Given the description of an element on the screen output the (x, y) to click on. 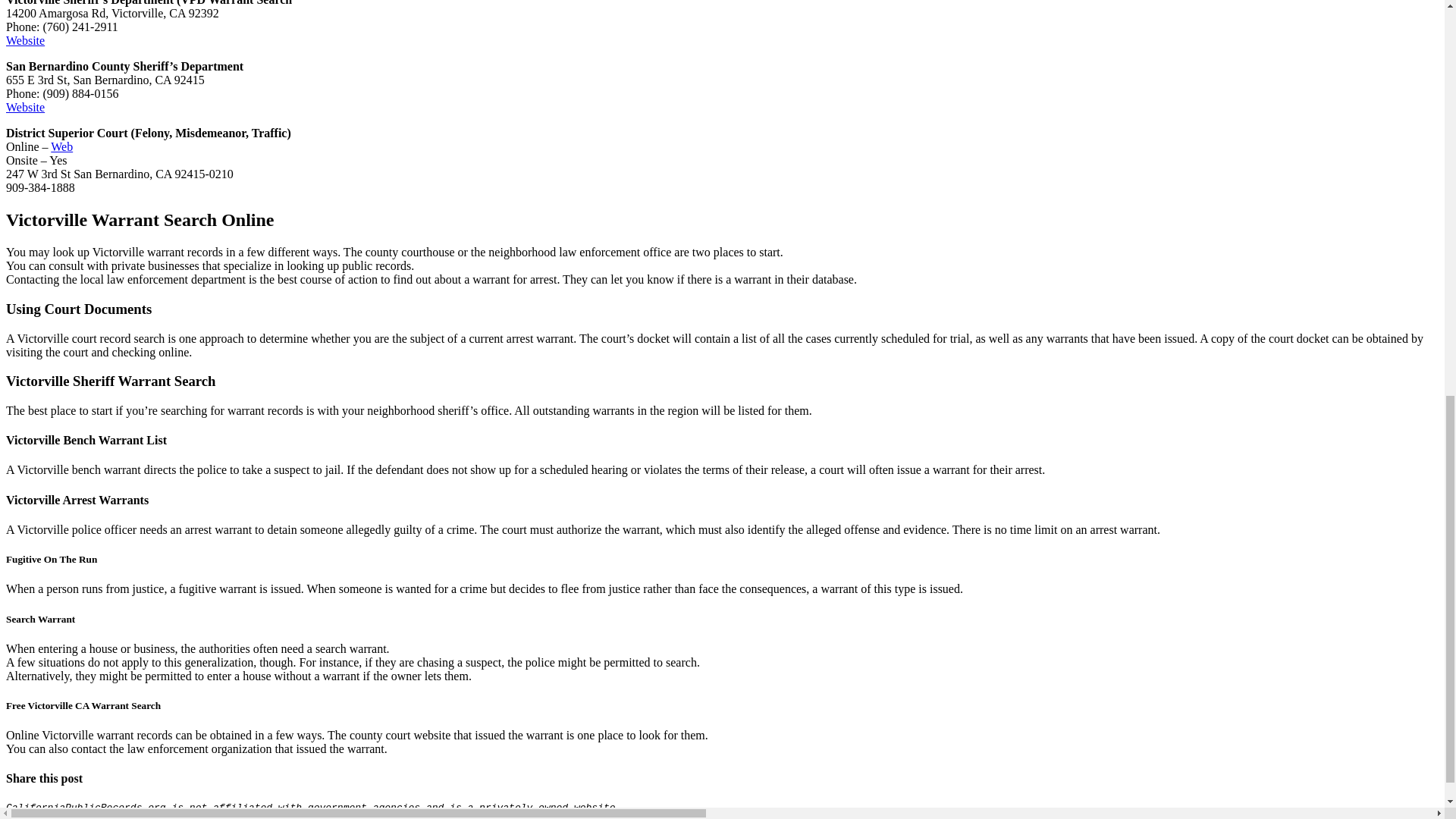
Web (61, 146)
Website (25, 40)
Website (25, 106)
